Given the description of an element on the screen output the (x, y) to click on. 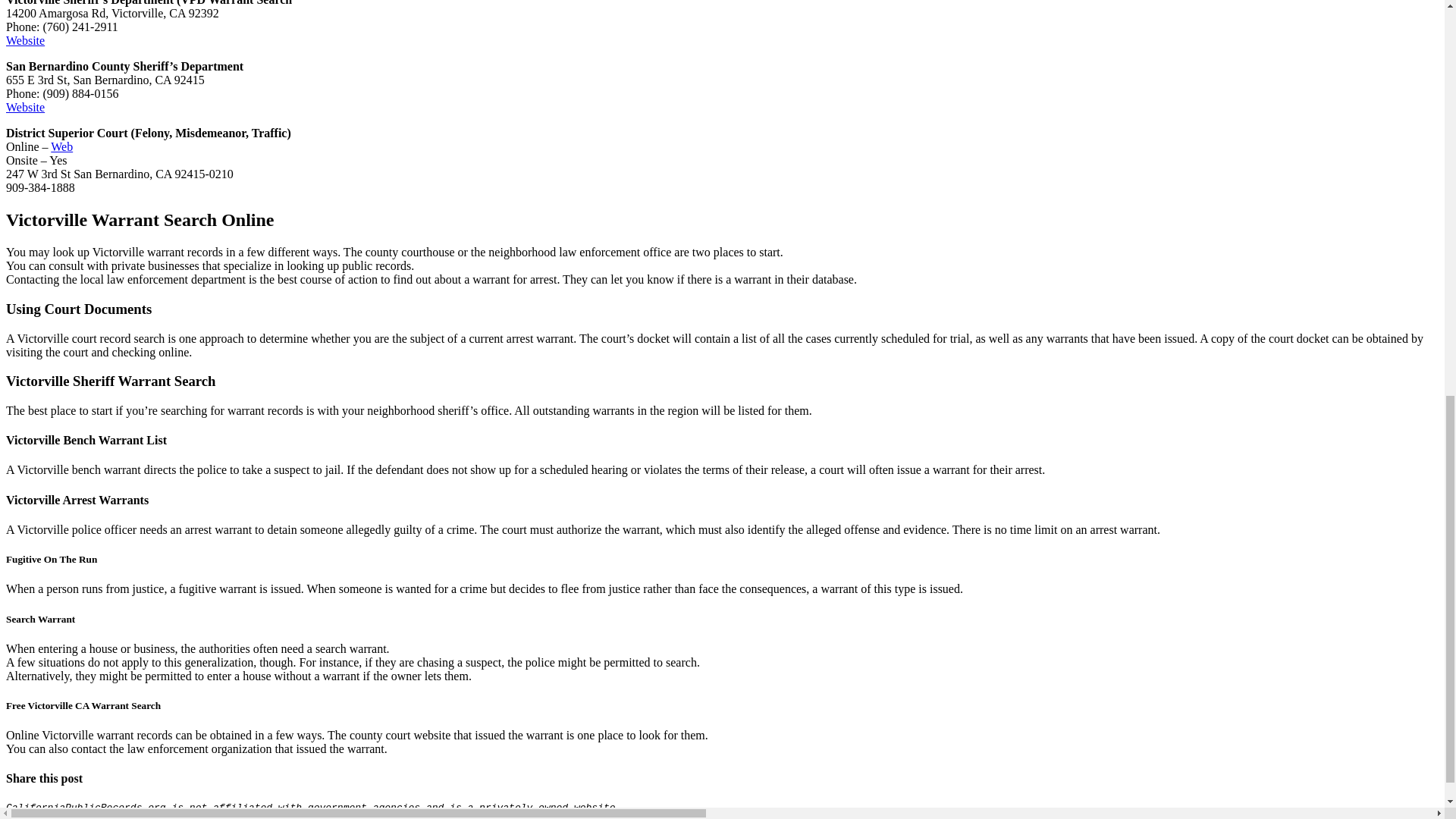
Web (61, 146)
Website (25, 40)
Website (25, 106)
